Given the description of an element on the screen output the (x, y) to click on. 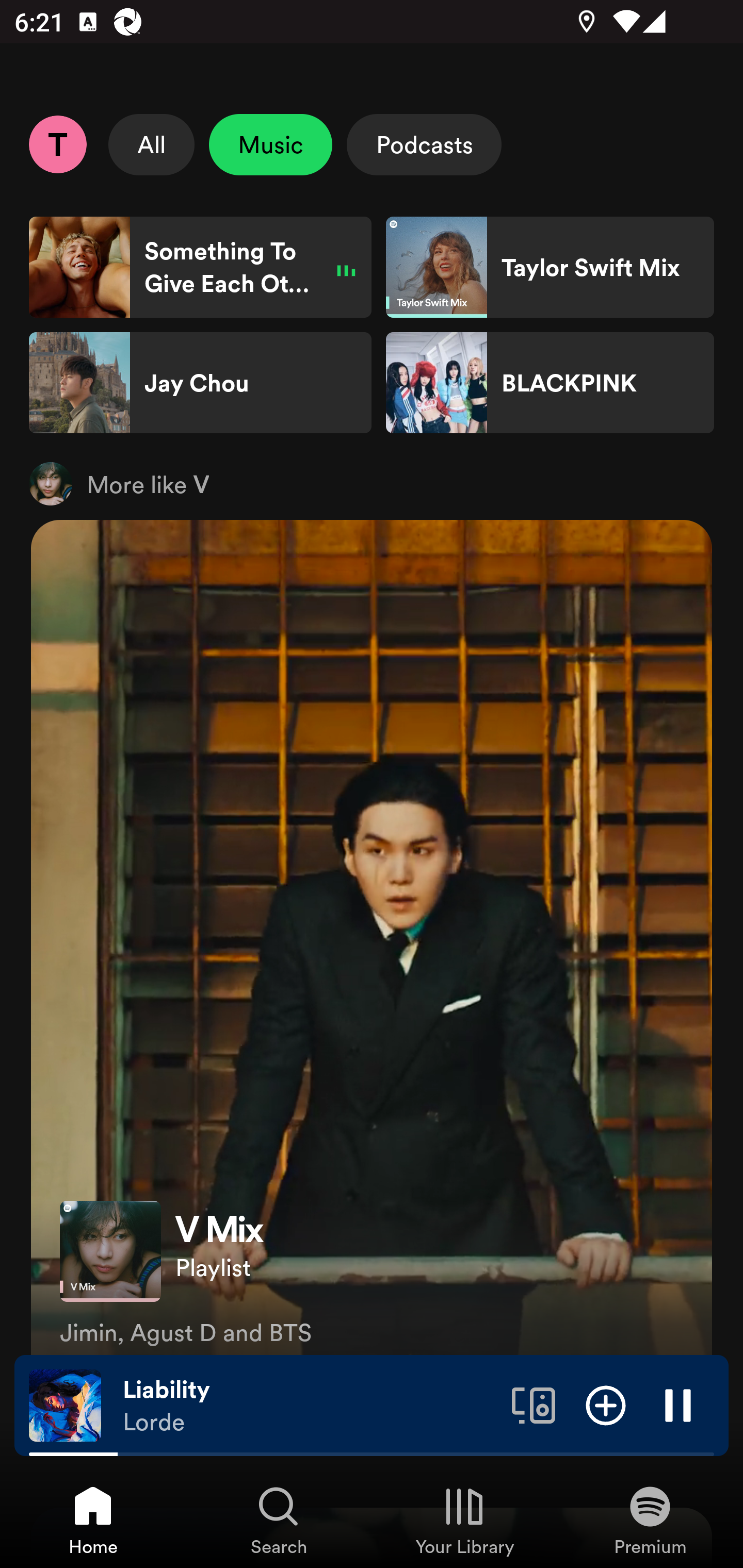
Profile (57, 144)
All Select All (151, 144)
Music Unselect Music (270, 144)
Podcasts Select Podcasts (423, 144)
Taylor Swift Mix Shortcut Taylor Swift Mix (549, 267)
Jay Chou Shortcut Jay Chou (199, 382)
BLACKPINK Shortcut BLACKPINK (549, 382)
More like V (371, 483)
Liability Lorde (309, 1405)
The cover art of the currently playing track (64, 1404)
Connect to a device. Opens the devices menu (533, 1404)
Add item (605, 1404)
Pause (677, 1404)
Home, Tab 1 of 4 Home Home (92, 1519)
Search, Tab 2 of 4 Search Search (278, 1519)
Your Library, Tab 3 of 4 Your Library Your Library (464, 1519)
Premium, Tab 4 of 4 Premium Premium (650, 1519)
